Given the description of an element on the screen output the (x, y) to click on. 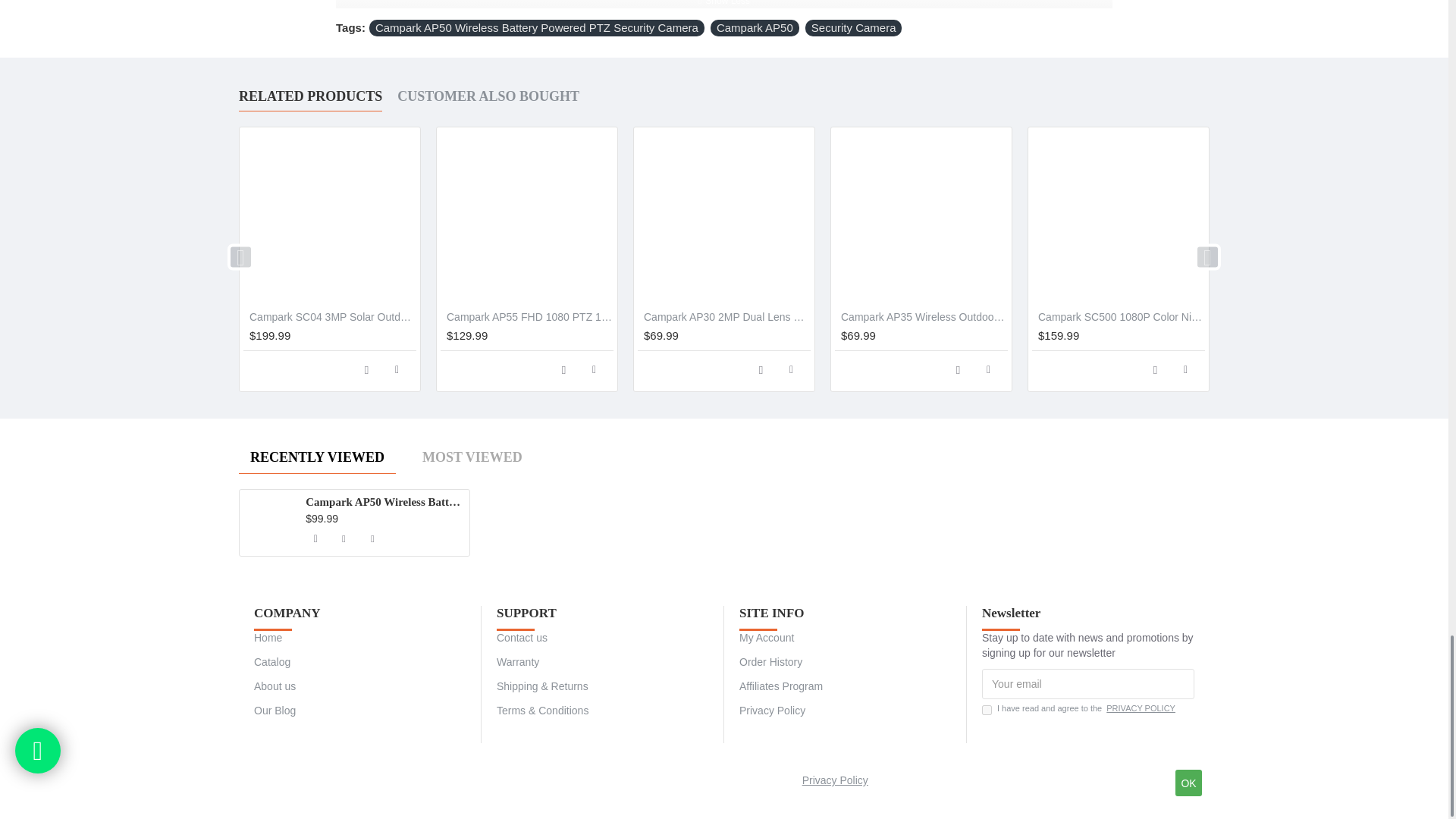
1 (986, 709)
